Given the description of an element on the screen output the (x, y) to click on. 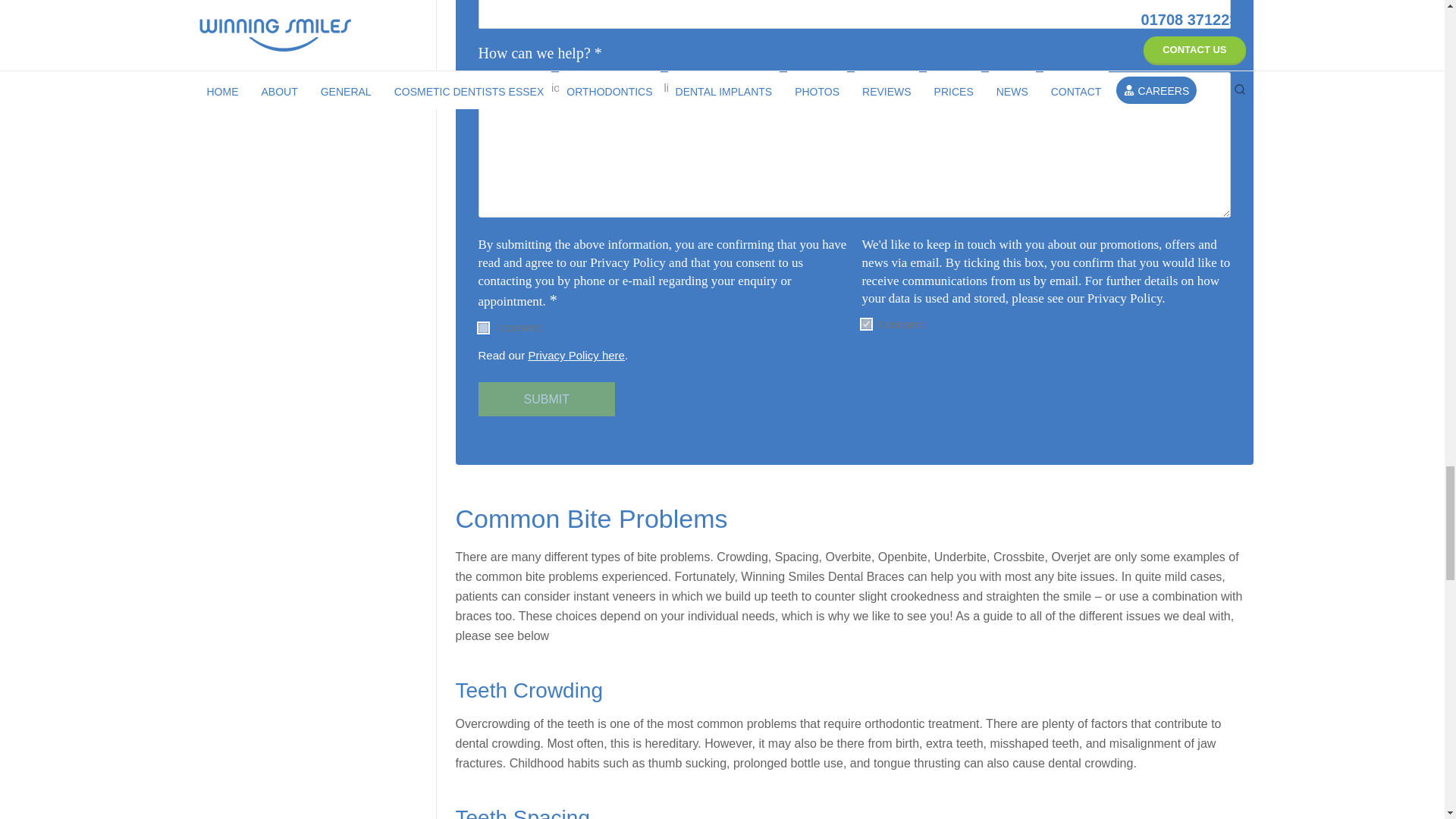
Submit (545, 399)
Privacy Policy here (575, 354)
I consent (865, 324)
I consent (482, 327)
Submit (545, 399)
